Given the description of an element on the screen output the (x, y) to click on. 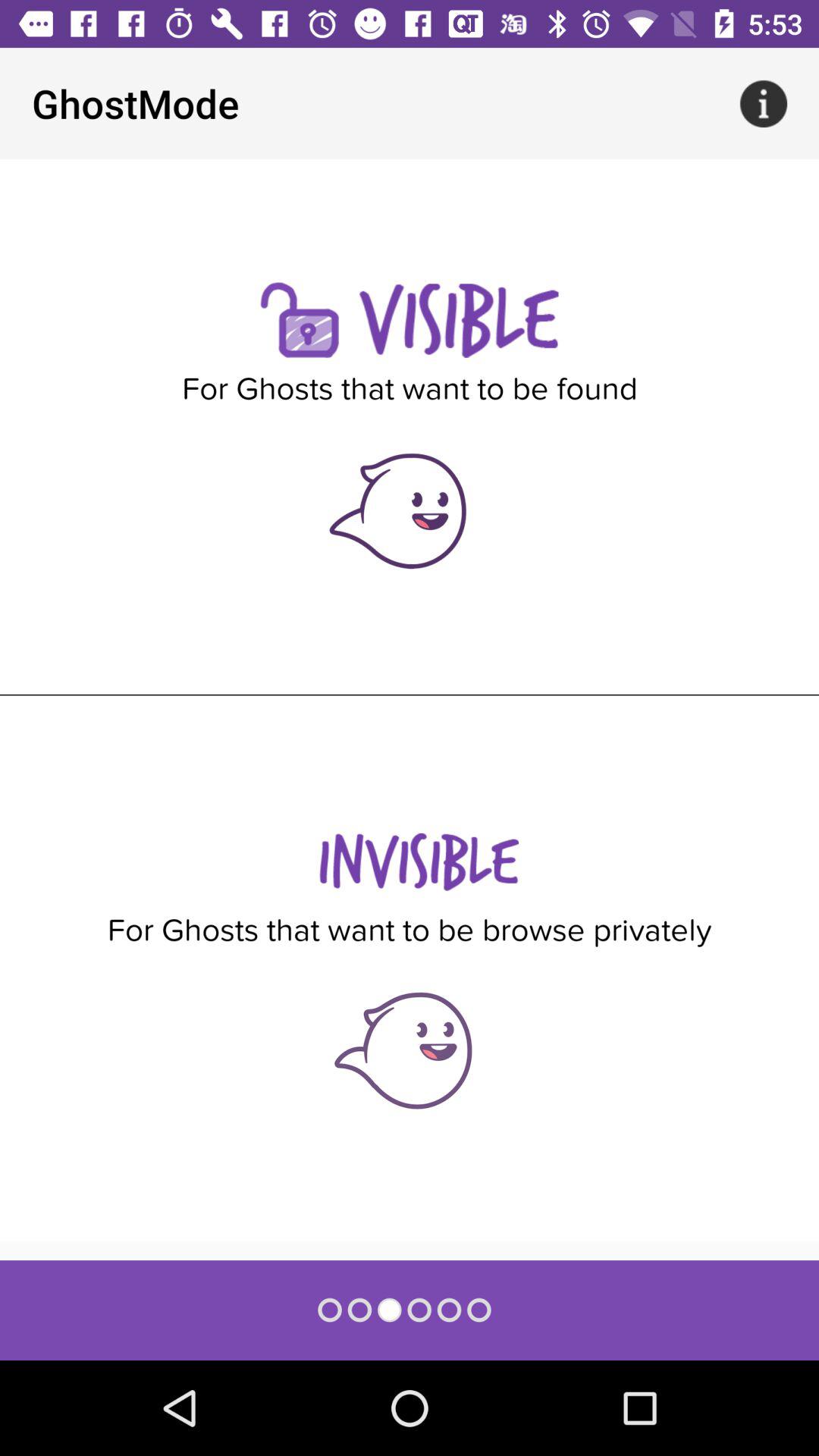
tap item above the for ghosts that icon (763, 103)
